Given the description of an element on the screen output the (x, y) to click on. 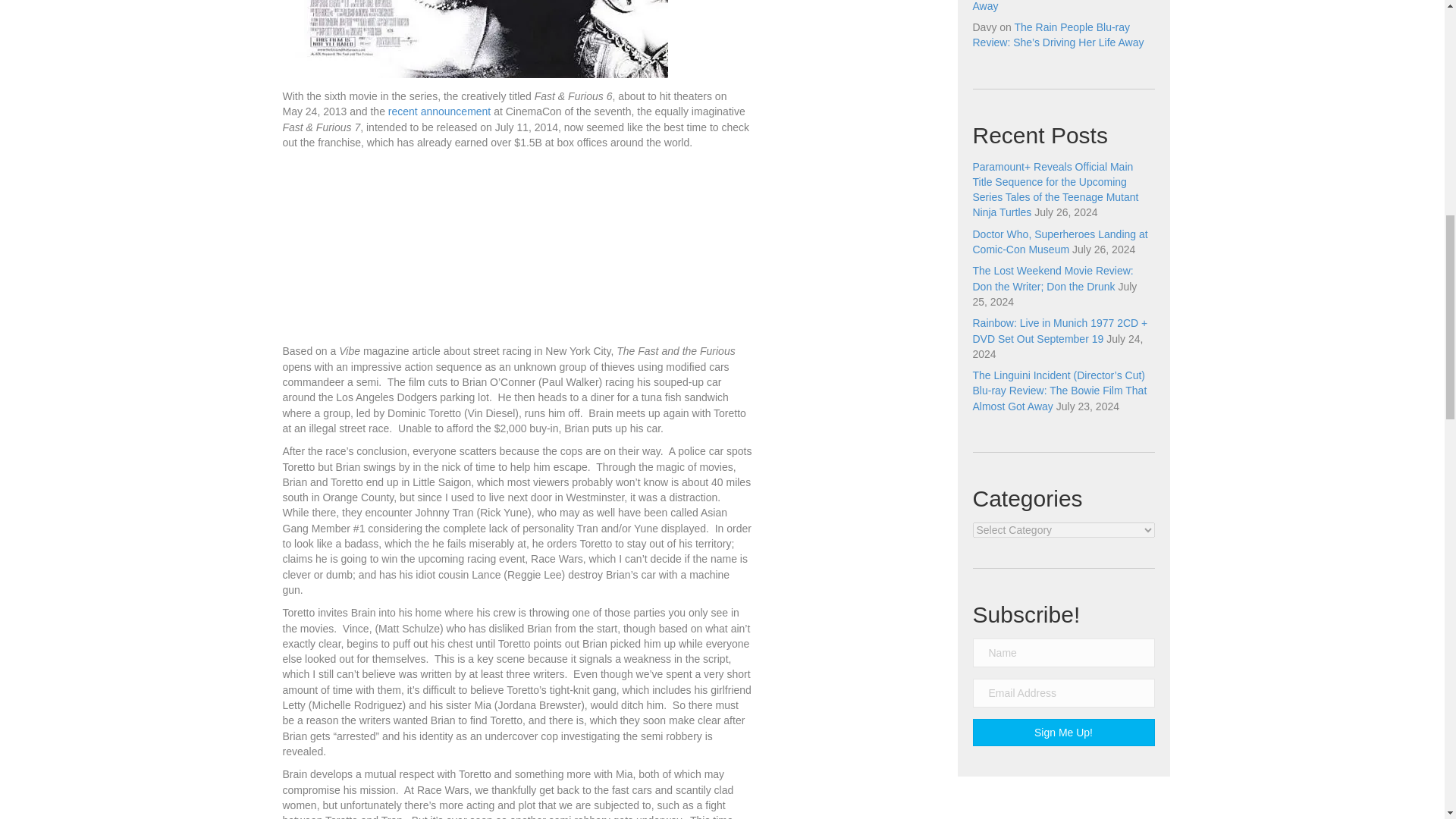
Doctor Who, Superheroes Landing at Comic-Con Museum (1059, 241)
Sign Me Up! (1063, 732)
recent announcement (439, 111)
The Lost Weekend Movie Review: Don the Writer; Don the Drunk (1052, 277)
